Given the description of an element on the screen output the (x, y) to click on. 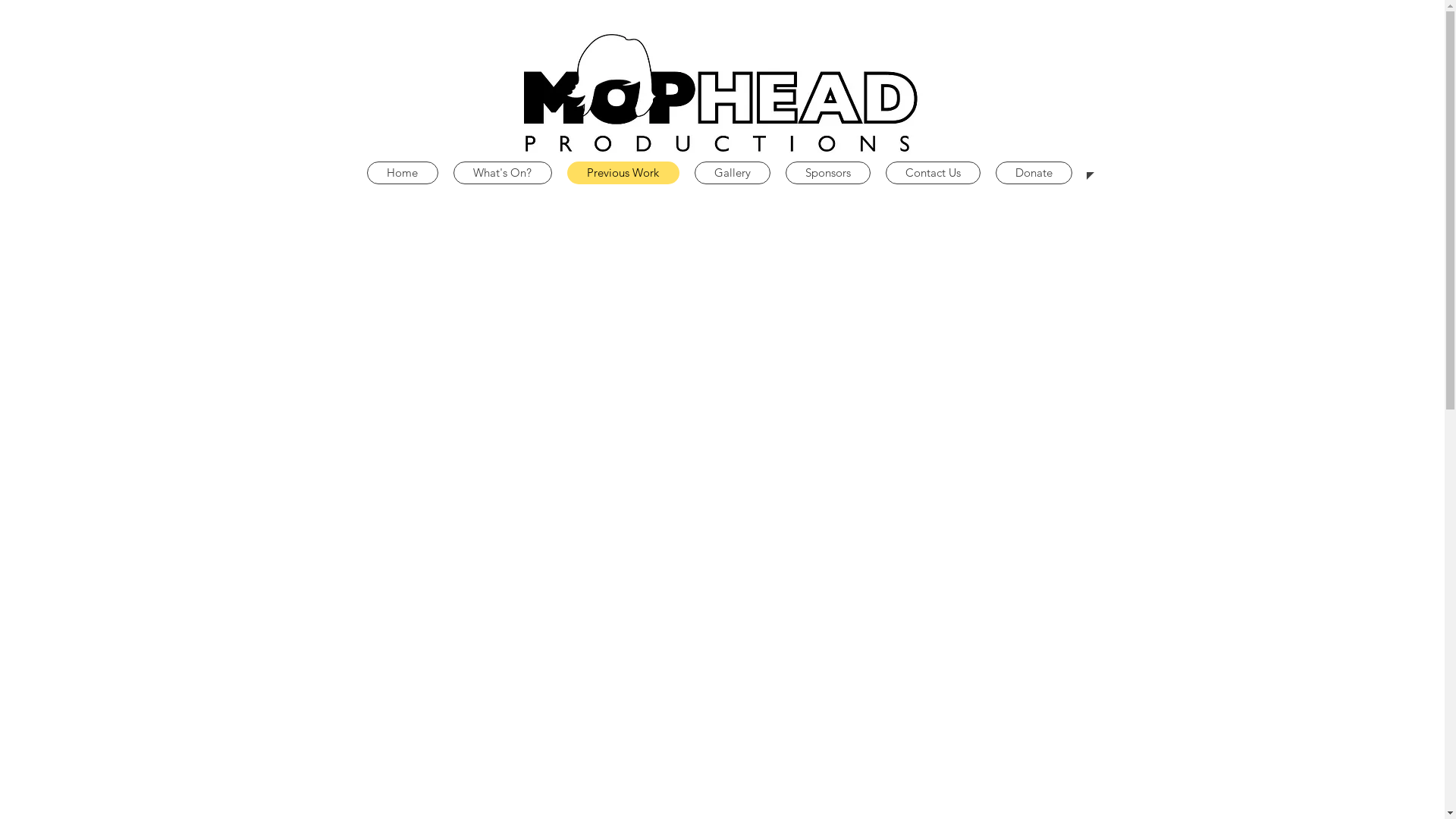
Donate Element type: text (1032, 172)
Contact Us Element type: text (932, 172)
Sponsors Element type: text (827, 172)
Previous Work Element type: text (623, 172)
Gallery Element type: text (732, 172)
Home Element type: text (402, 172)
What's On? Element type: text (502, 172)
